Given the description of an element on the screen output the (x, y) to click on. 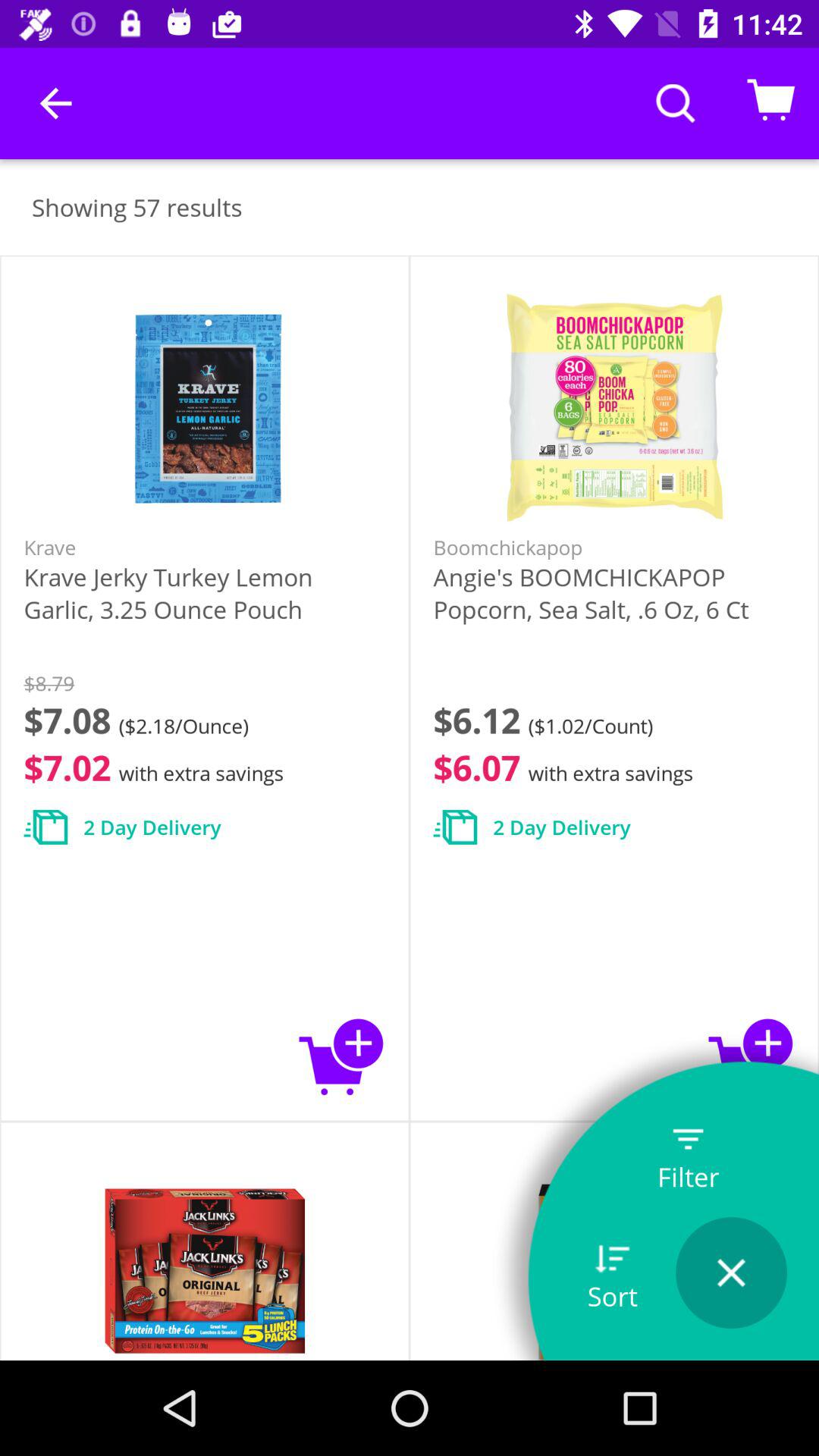
close page (731, 1272)
